Given the description of an element on the screen output the (x, y) to click on. 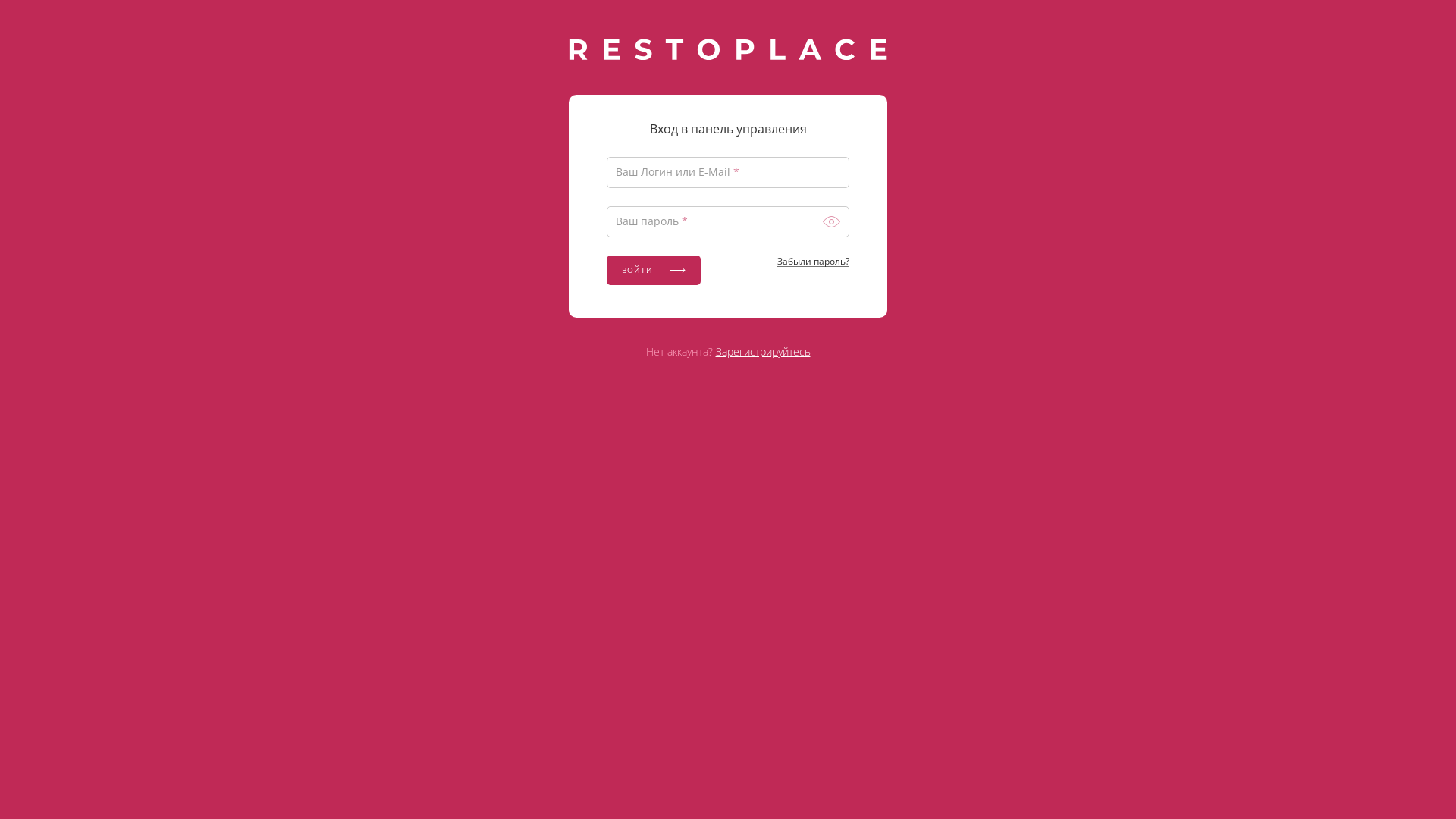
RESTOPLACE Element type: hover (727, 48)
